Given the description of an element on the screen output the (x, y) to click on. 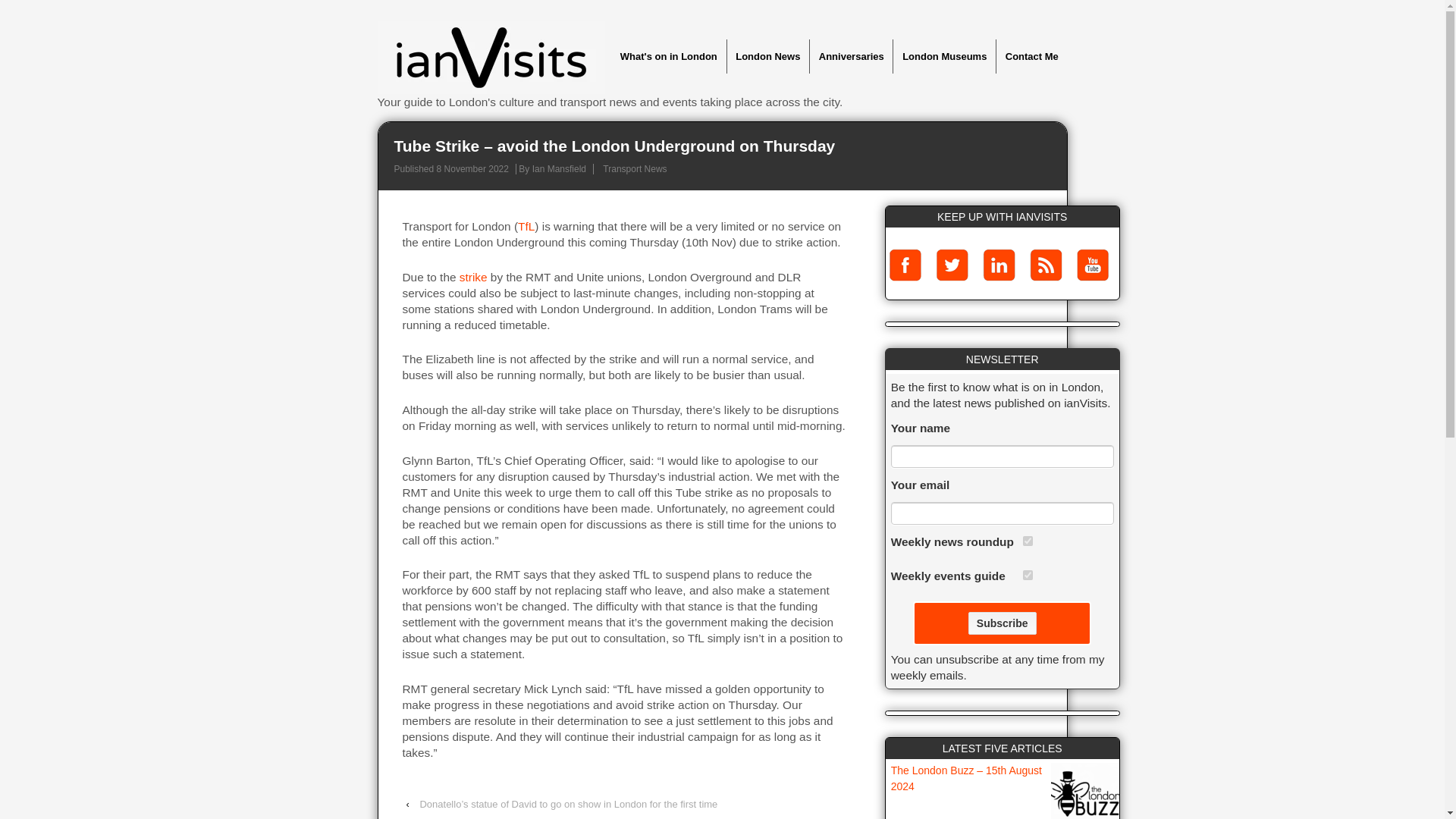
TfL (526, 226)
London Museums (943, 56)
Anniversaries (850, 56)
Contact Me (1031, 56)
yes (1027, 574)
yes (1027, 541)
Subscribe (1002, 622)
London News (767, 56)
Ian Mansfield (559, 168)
What's on in London (668, 56)
